Given the description of an element on the screen output the (x, y) to click on. 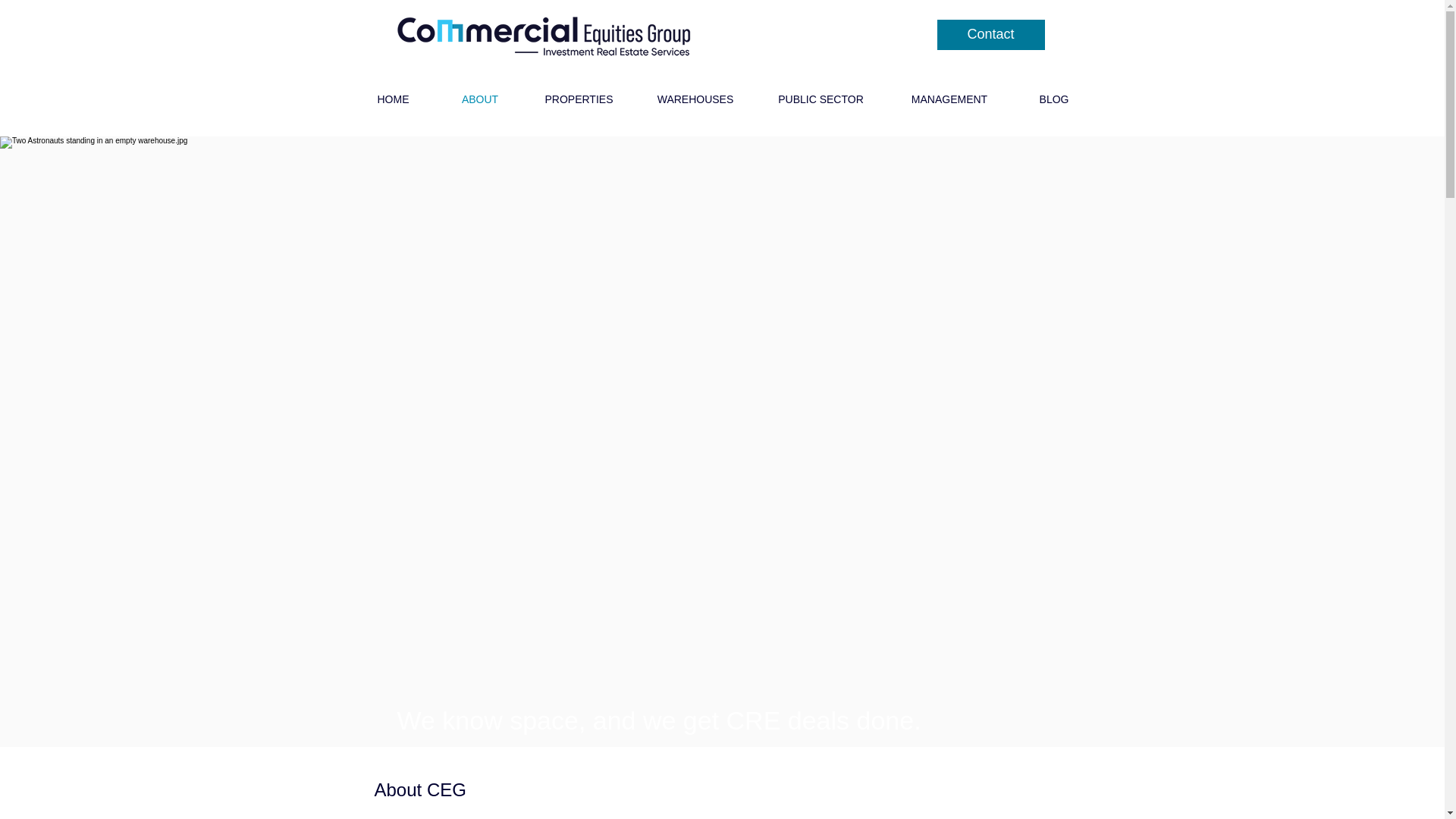
Contact (991, 34)
PUBLIC SECTOR (820, 98)
MANAGEMENT (948, 98)
WAREHOUSES (695, 98)
HOME (392, 98)
BLOG (1054, 98)
PROPERTIES (578, 98)
ABOUT (479, 98)
